Given the description of an element on the screen output the (x, y) to click on. 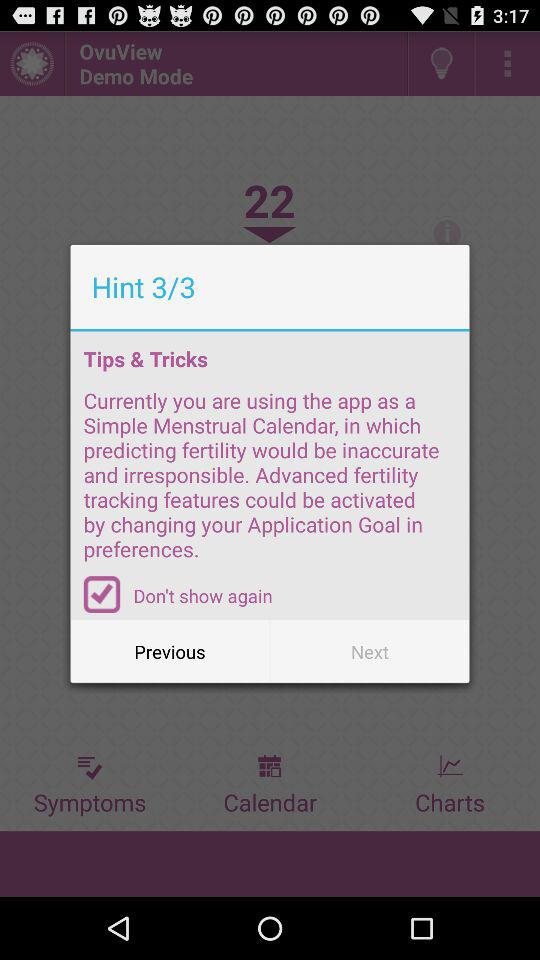
turn off the icon on the left (101, 594)
